Given the description of an element on the screen output the (x, y) to click on. 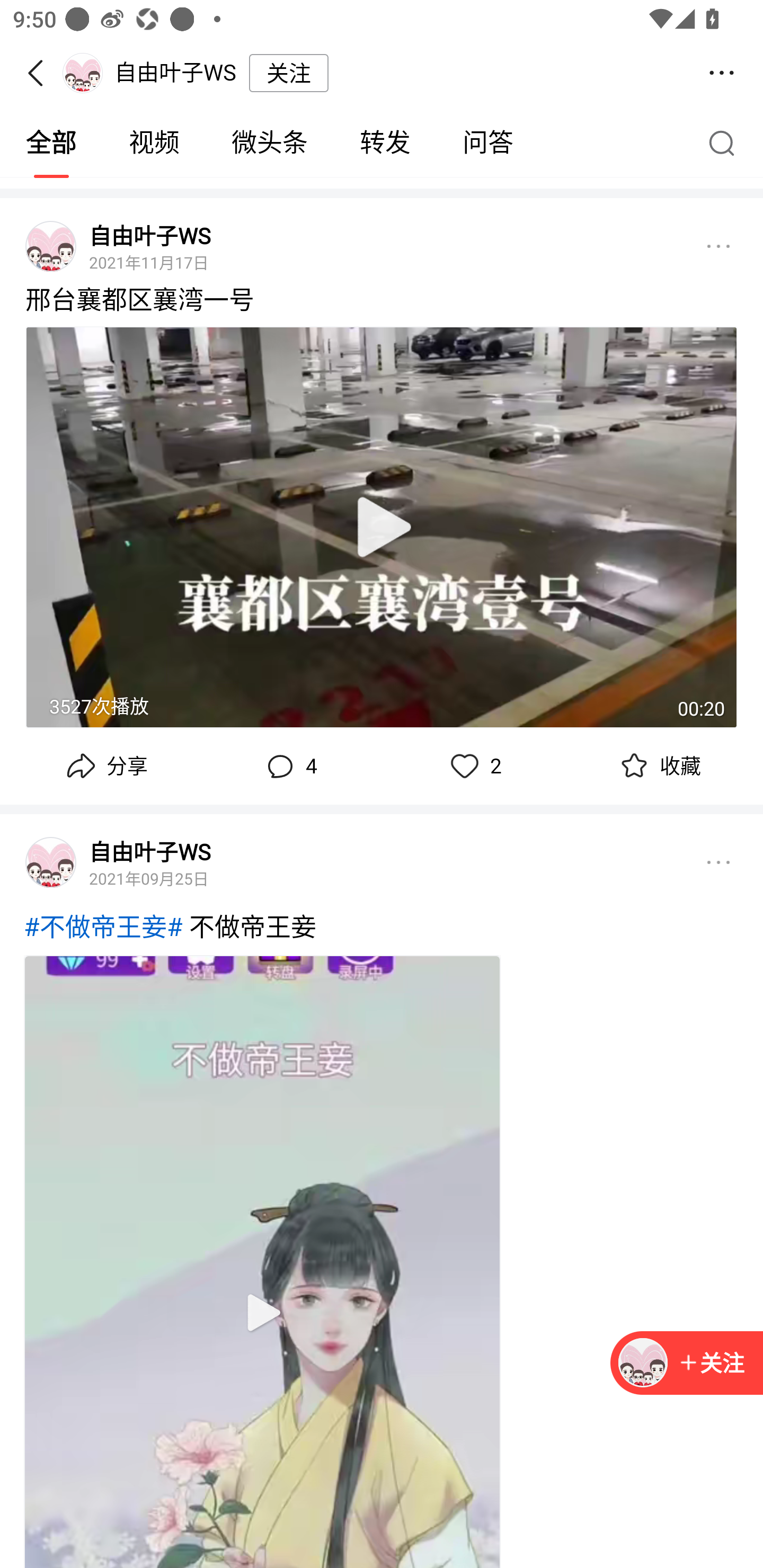
返回 (41, 72)
更多操作 (721, 72)
关注 (288, 72)
全部 (51, 143)
视频 (154, 143)
微头条 (269, 143)
转发 (385, 143)
问答 (487, 143)
搜索 (726, 142)
自由叶子WS (149, 235)
头像 (50, 246)
更多 (718, 245)
分享 (104, 766)
评论,4 4 (288, 766)
,收藏 收藏 (658, 766)
自由叶子WS (149, 851)
头像 (50, 862)
更多 (718, 862)
#不做帝王妾# 不做帝王妾 (381, 933)
    关注 (686, 1363)
    关注 (711, 1363)
